Given the description of an element on the screen output the (x, y) to click on. 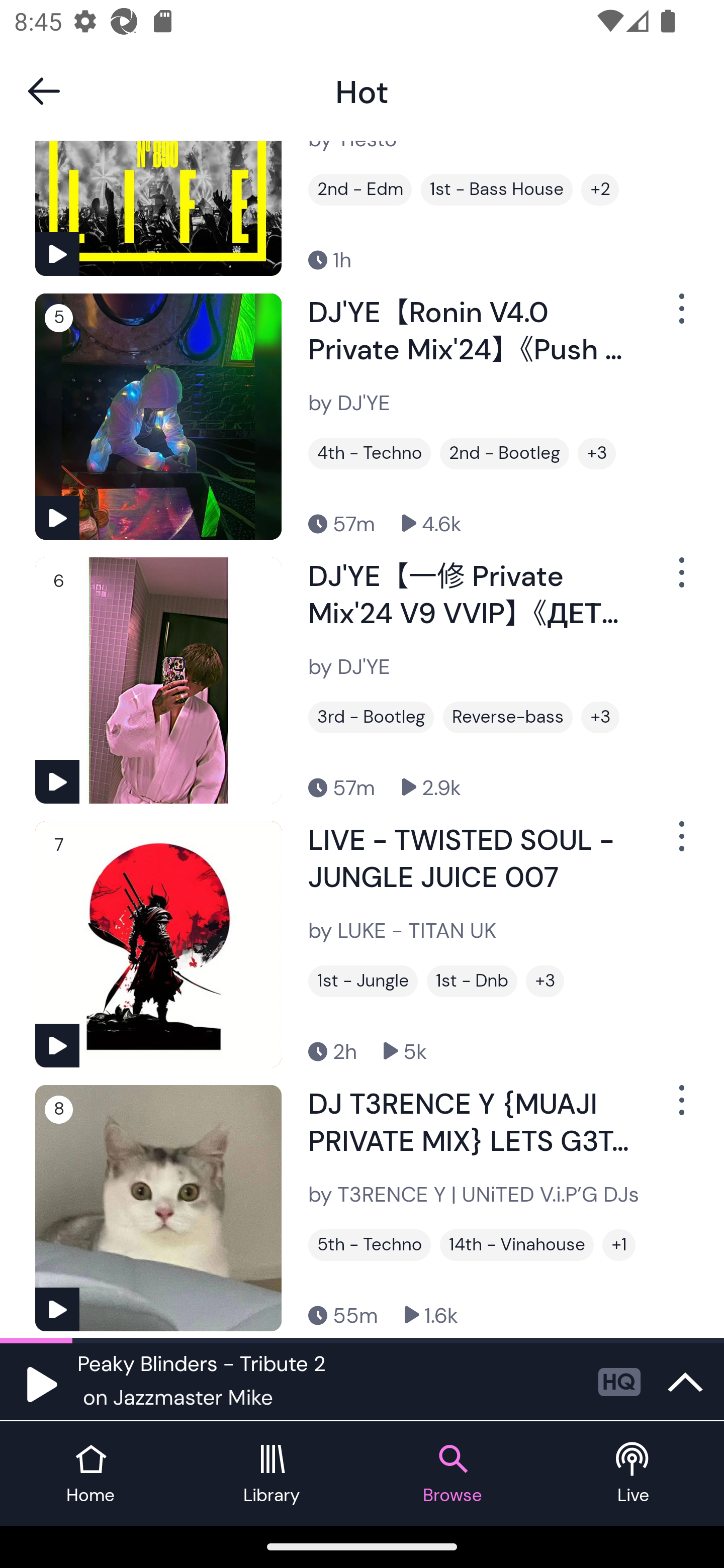
2nd - Edm (359, 189)
1st - Bass House (496, 189)
Show Options Menu Button (679, 315)
4th - Techno (369, 452)
2nd - Bootleg (504, 452)
Show Options Menu Button (679, 579)
3rd - Bootleg (370, 716)
Reverse-bass (507, 716)
Show Options Menu Button (679, 844)
1st - Jungle (362, 981)
1st - Dnb (472, 981)
Show Options Menu Button (679, 1107)
5th - Techno (369, 1244)
14th - Vinahouse (516, 1244)
Home tab Home (90, 1473)
Library tab Library (271, 1473)
Browse tab Browse (452, 1473)
Live tab Live (633, 1473)
